Given the description of an element on the screen output the (x, y) to click on. 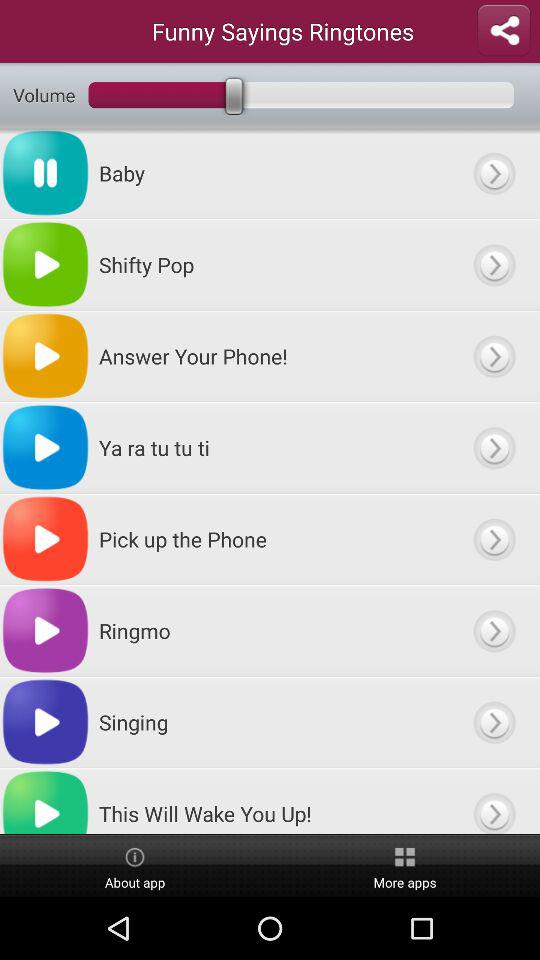
select ringtone (494, 630)
